Given the description of an element on the screen output the (x, y) to click on. 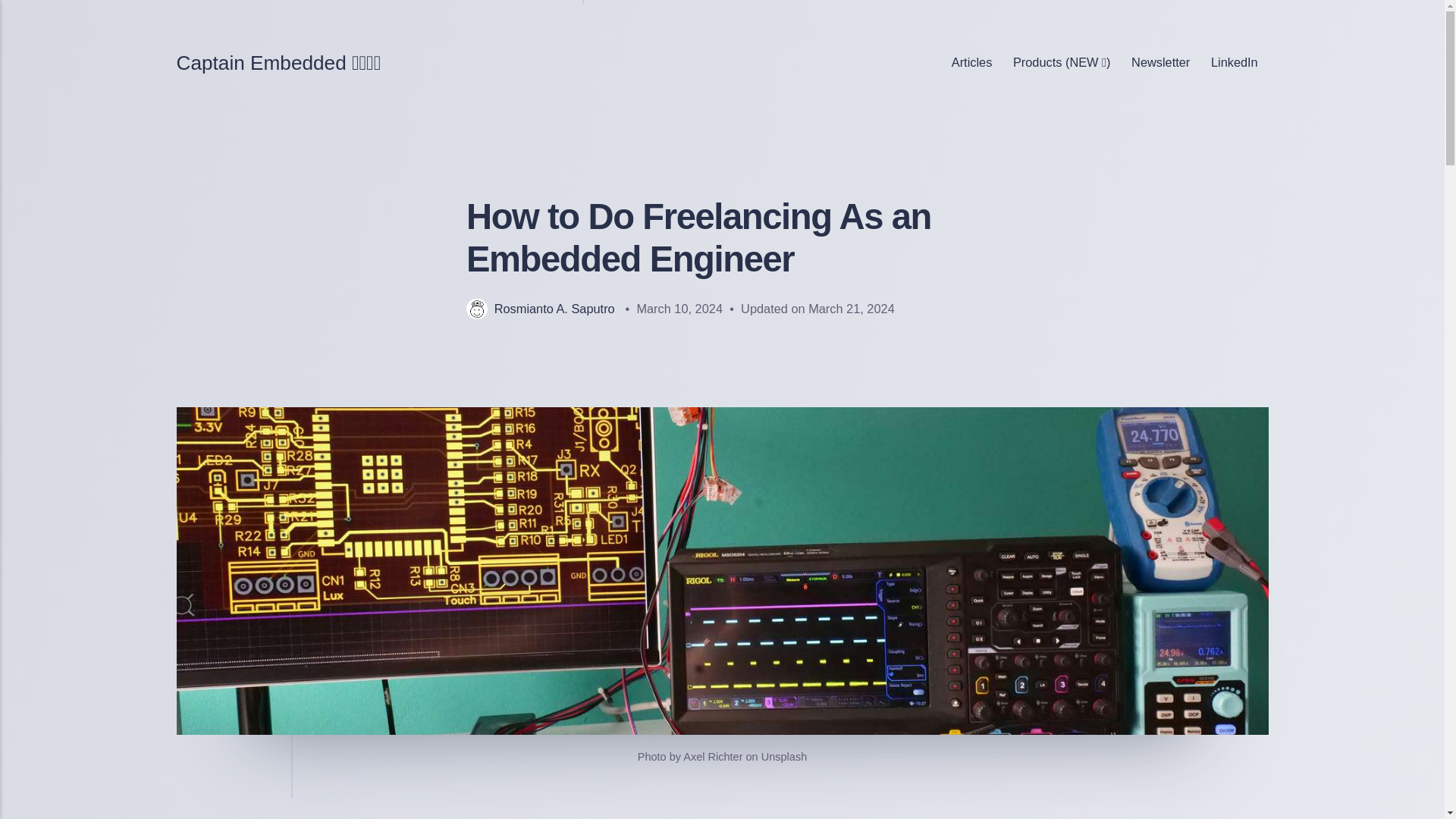
Rosmianto A. Saputro (539, 308)
LinkedIn (1233, 62)
Articles (971, 62)
Rosmianto A. Saputro (539, 308)
Newsletter (1160, 62)
